Given the description of an element on the screen output the (x, y) to click on. 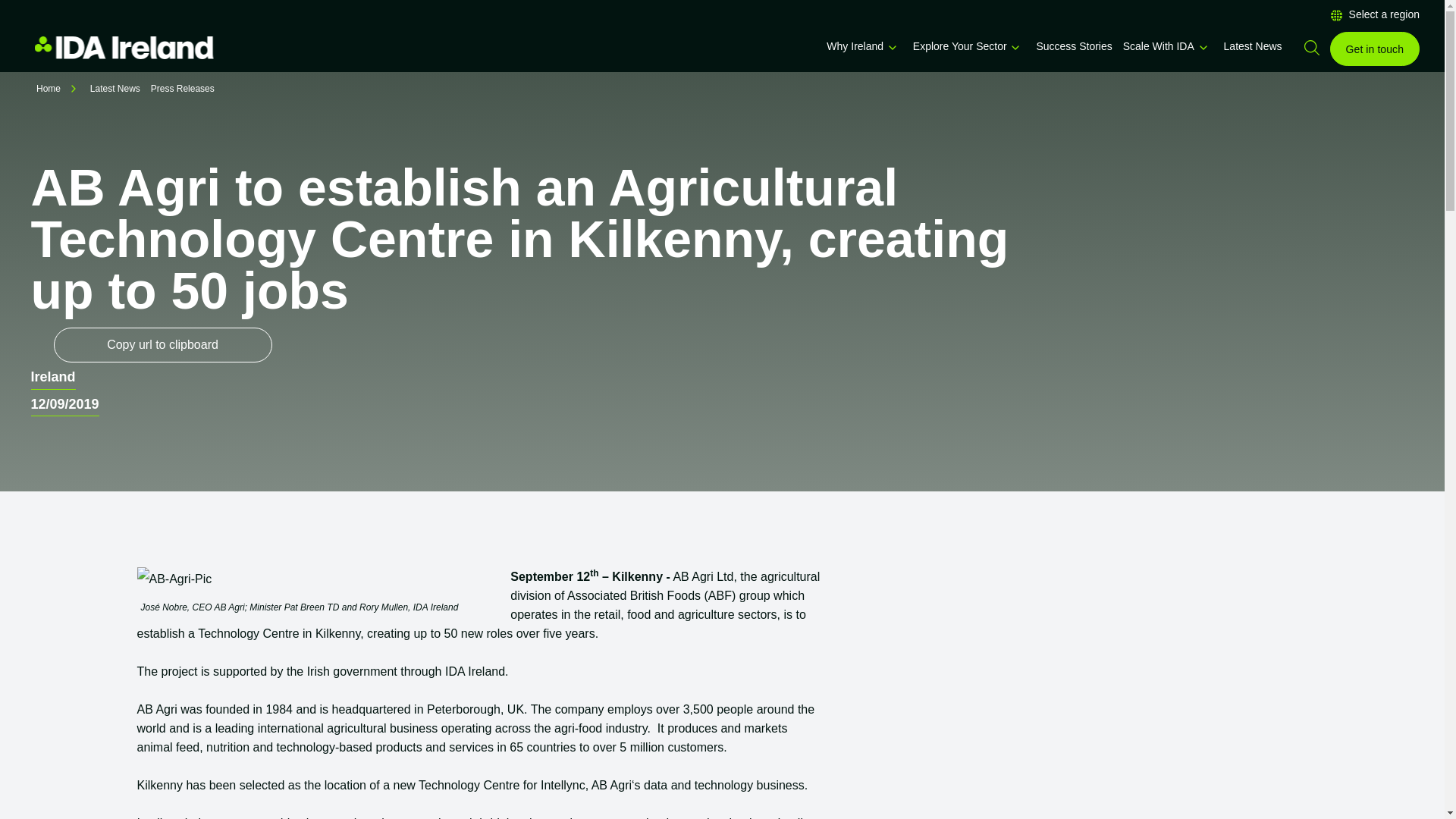
Success Stories (1073, 46)
Get in touch (1374, 48)
Latest News (1253, 46)
A short title of the SVG (892, 47)
Explore Your Sector (959, 46)
Scale With IDA (1157, 46)
Why Ireland (855, 46)
A short title of the SVG (1202, 47)
A short title of the SVG (1015, 47)
